Given the description of an element on the screen output the (x, y) to click on. 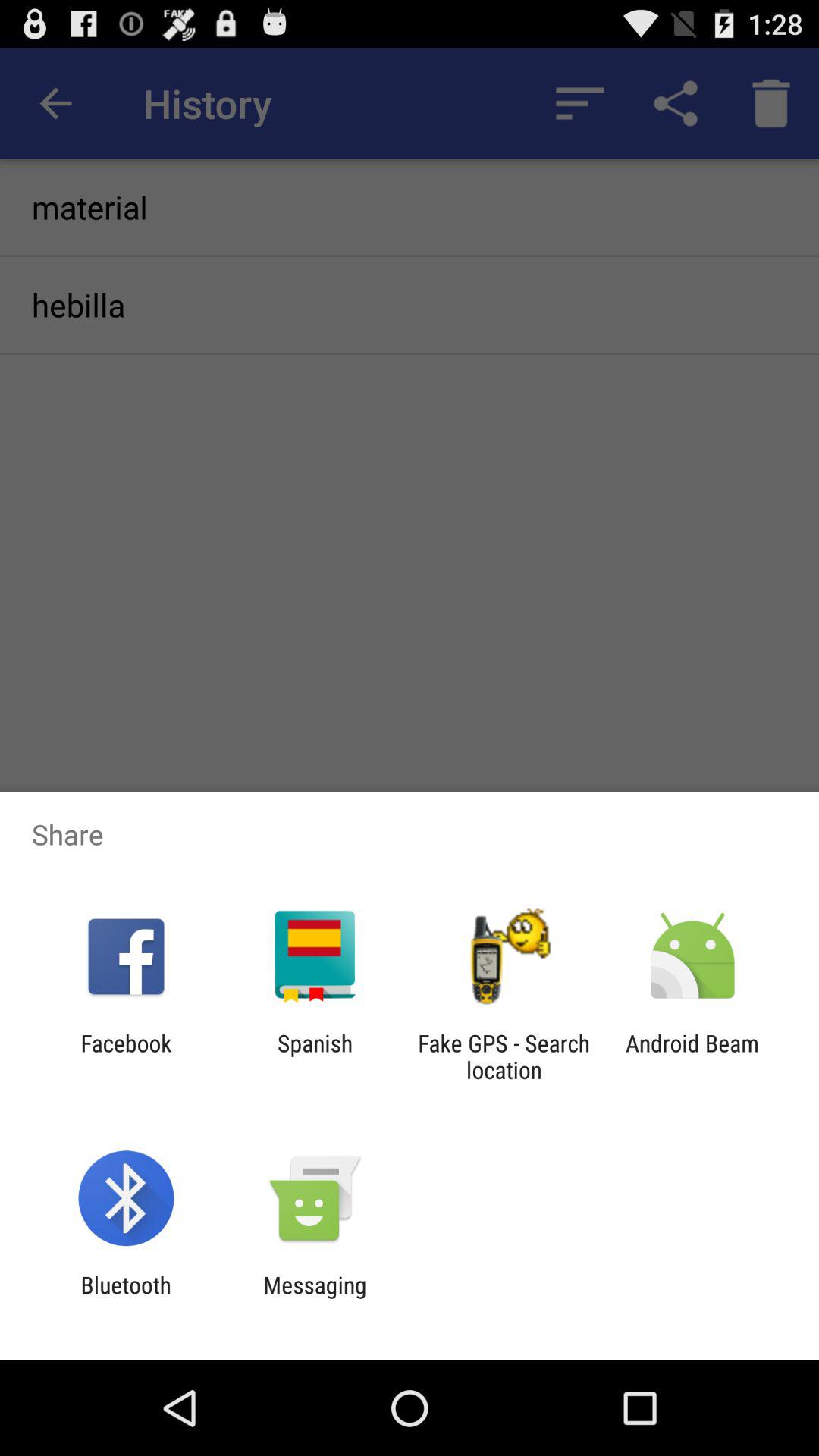
tap item next to messaging icon (125, 1298)
